Given the description of an element on the screen output the (x, y) to click on. 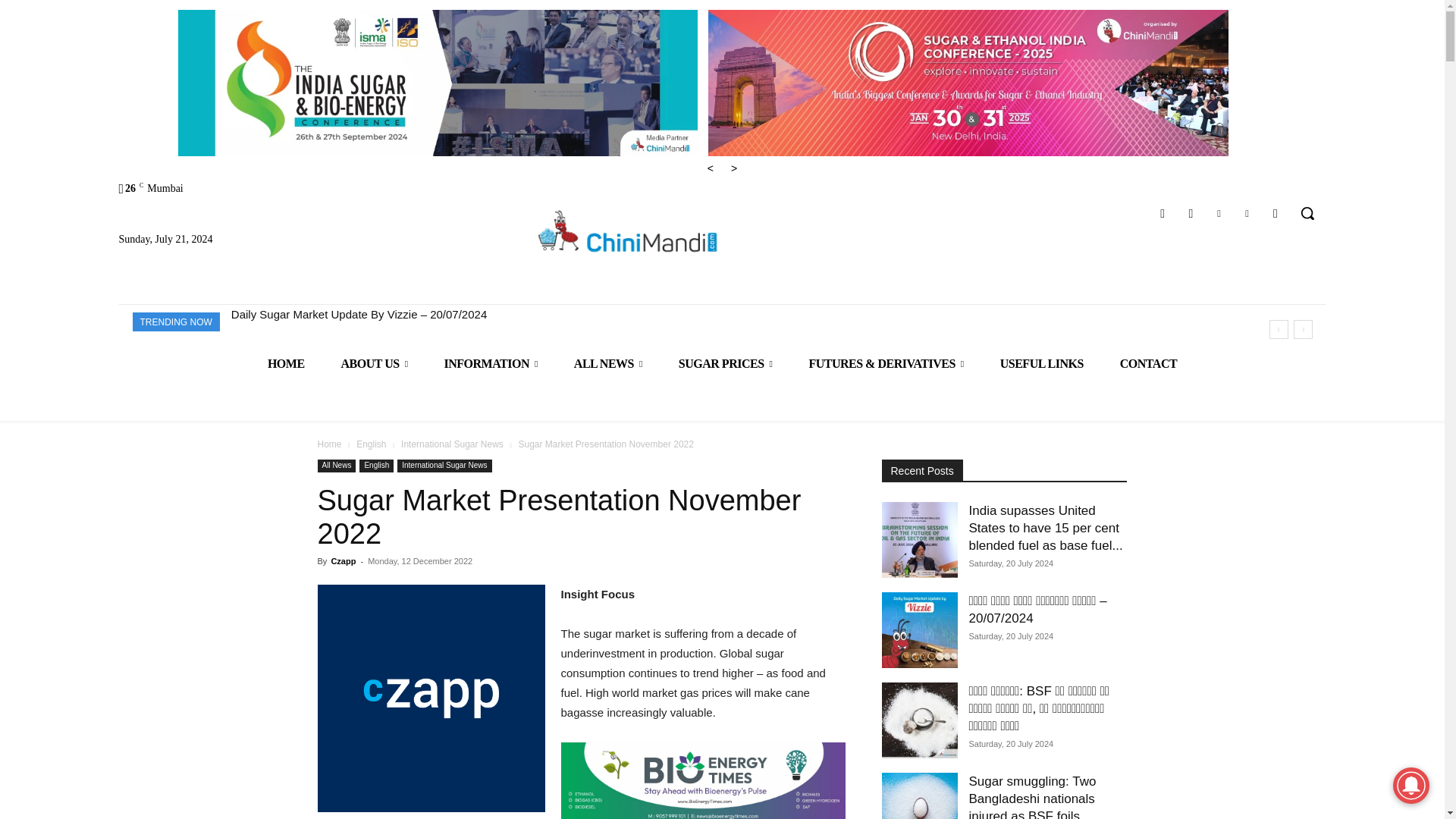
Linkedin (1218, 213)
Facebook (1163, 213)
Youtube (1275, 213)
Instagram (1190, 213)
Twitter (1246, 213)
